Given the description of an element on the screen output the (x, y) to click on. 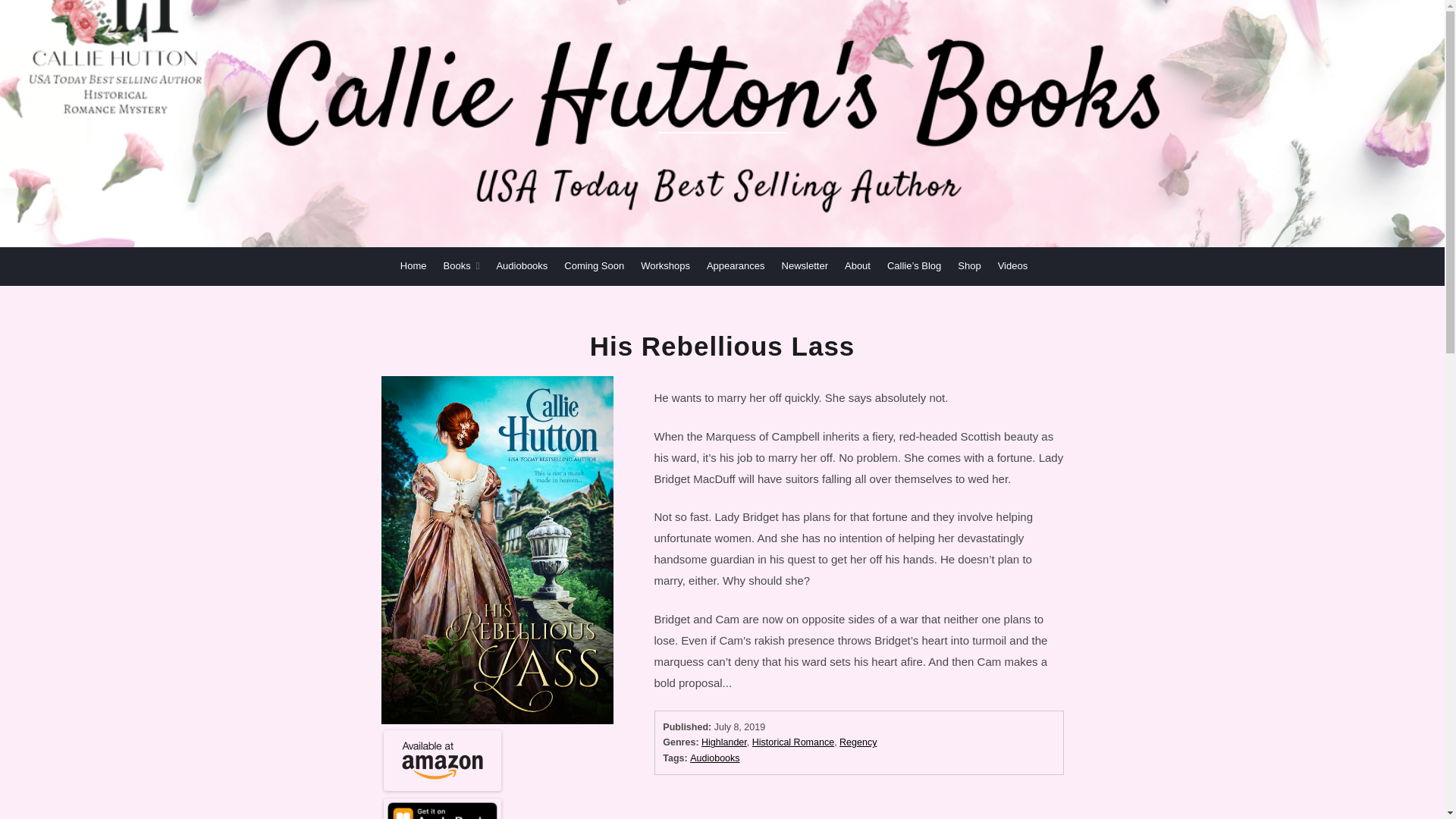
Books (462, 266)
Audiobooks (521, 266)
Workshops (665, 266)
Coming Soon (594, 266)
Newsletter (804, 266)
Appearances (735, 266)
